Given the description of an element on the screen output the (x, y) to click on. 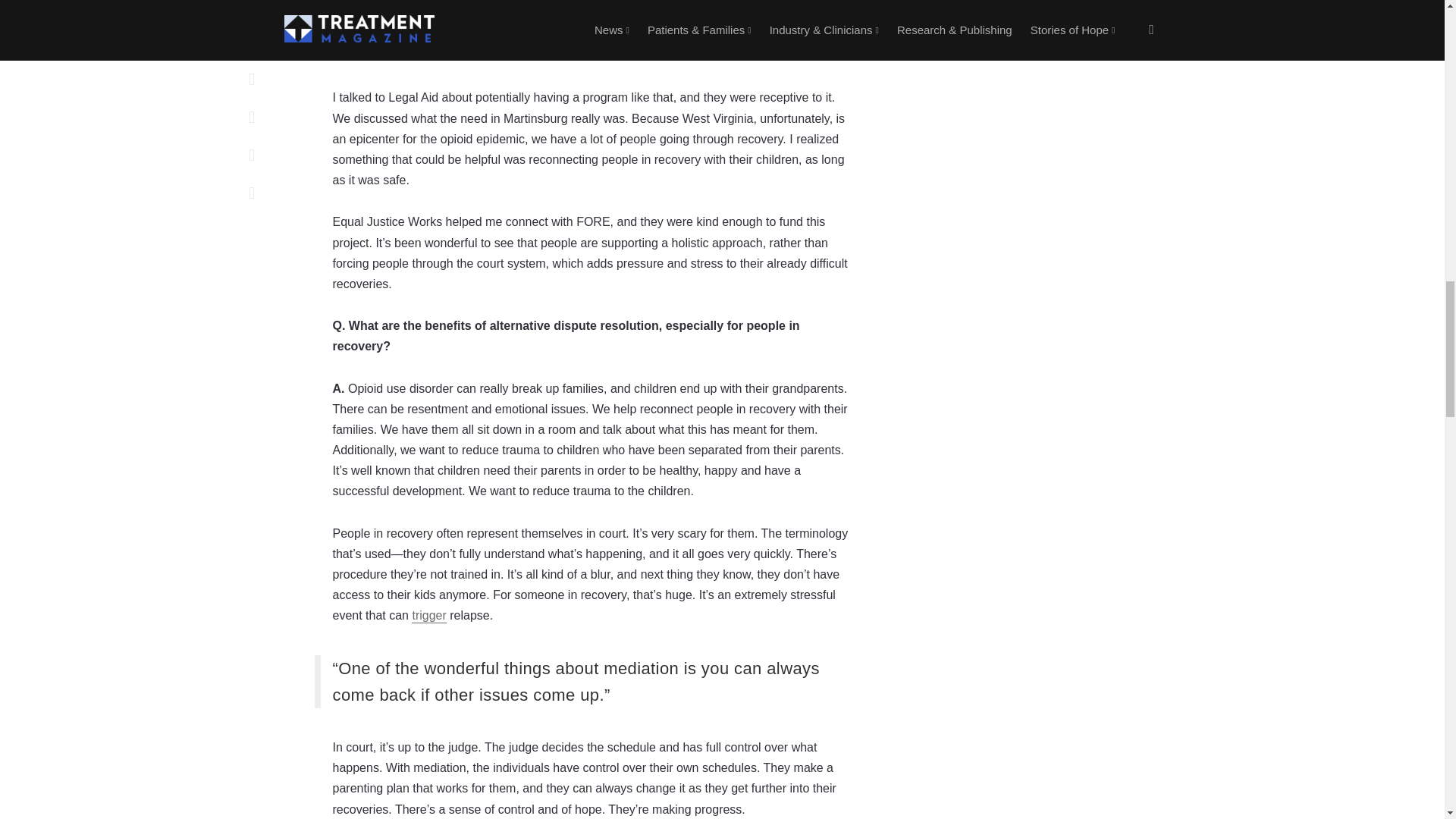
trigger (428, 616)
